Given the description of an element on the screen output the (x, y) to click on. 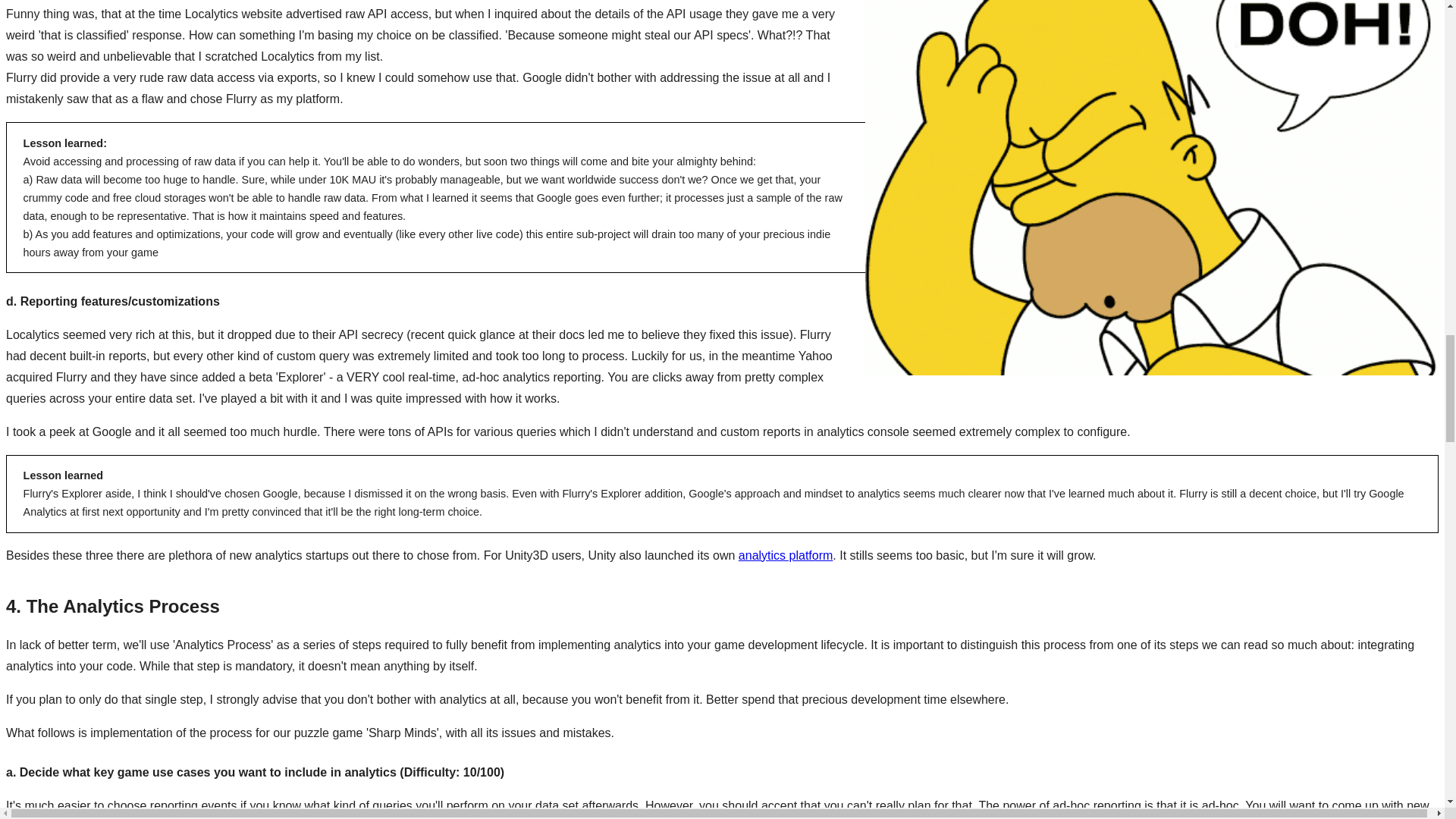
analytics platform (785, 554)
